Given the description of an element on the screen output the (x, y) to click on. 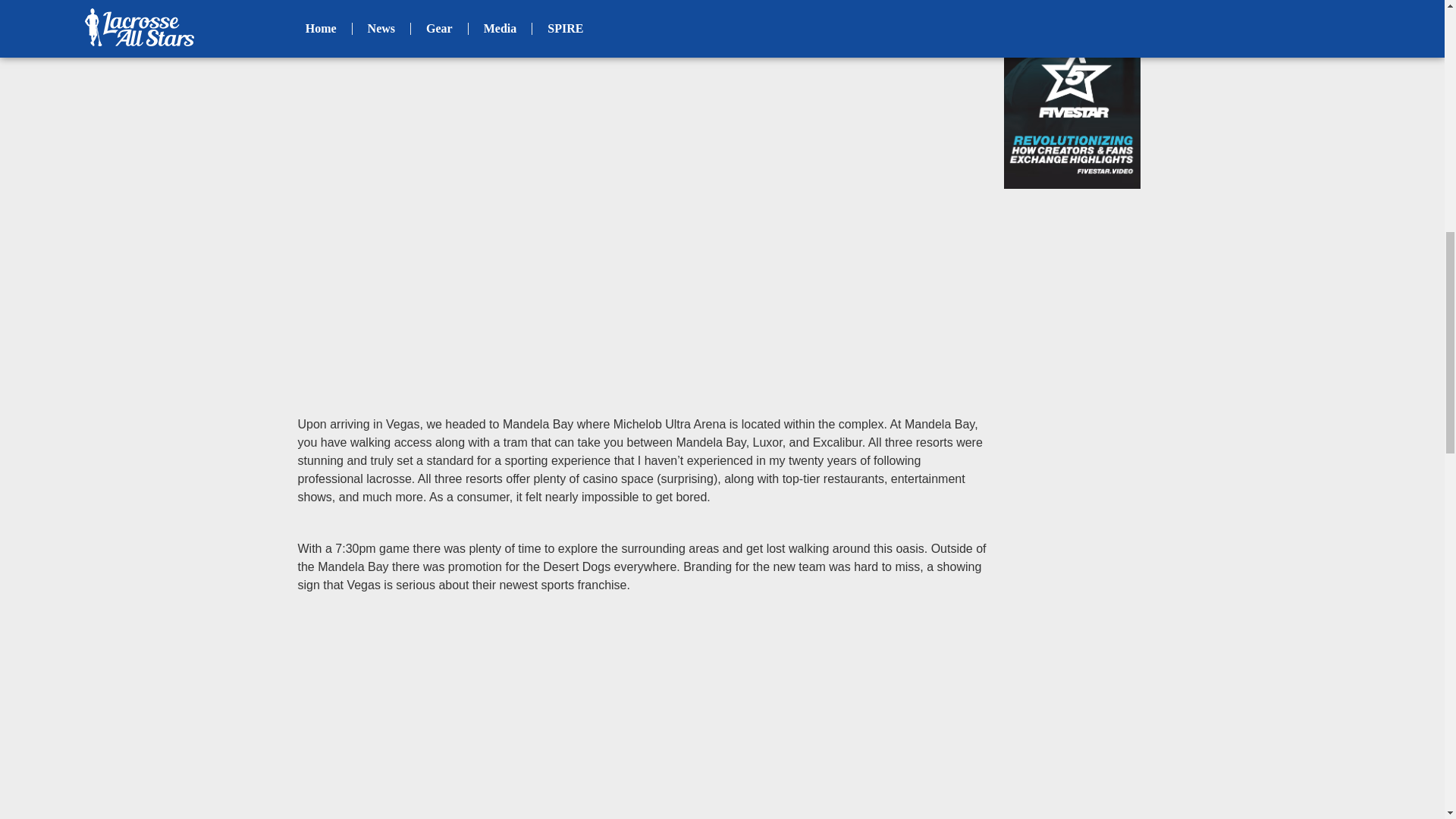
Mandalay Bay Las Vegas : An In Depth Look Inside (642, 723)
